Given the description of an element on the screen output the (x, y) to click on. 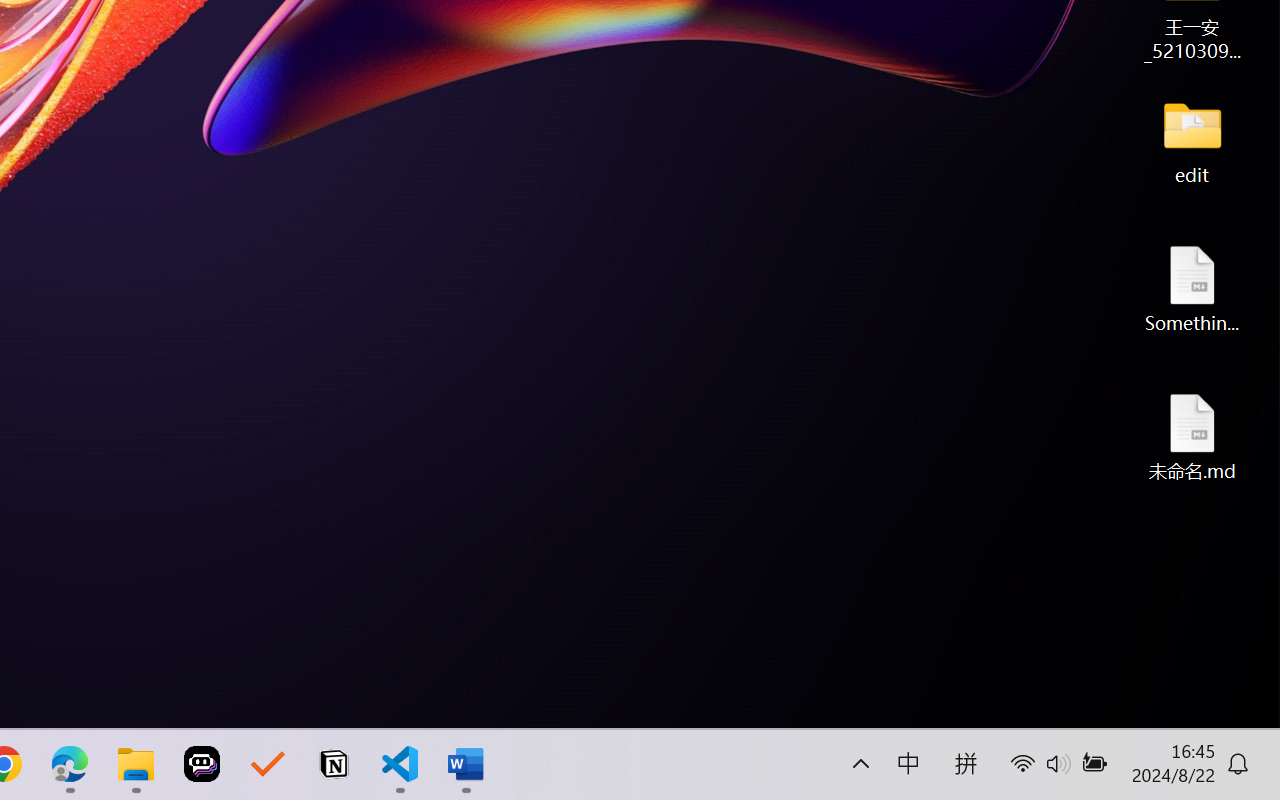
Something.md (1192, 288)
edit (1192, 140)
